Given the description of an element on the screen output the (x, y) to click on. 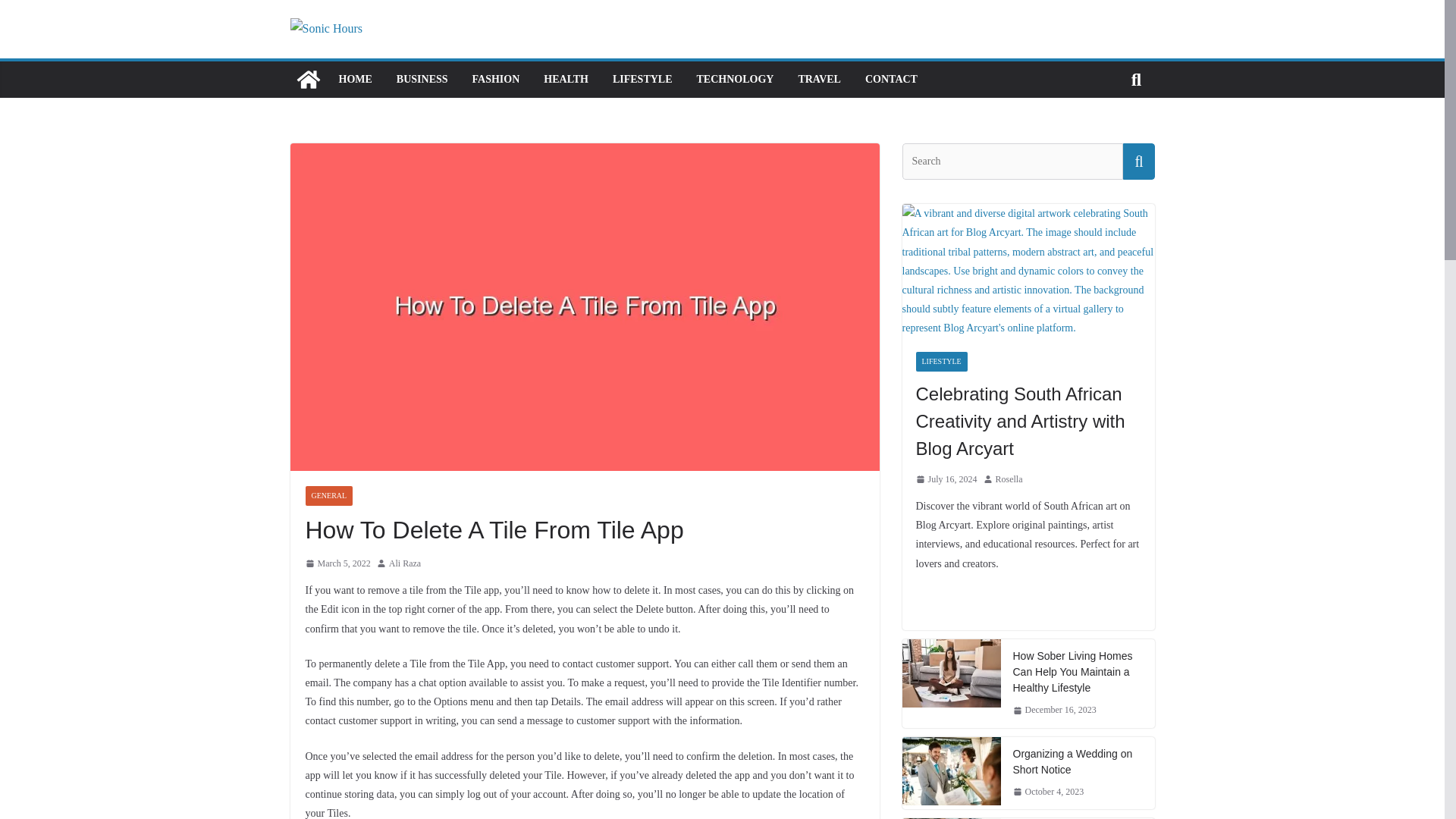
TRAVEL (819, 79)
March 5, 2022 (336, 564)
CONTACT (890, 79)
TECHNOLOGY (735, 79)
BUSINESS (422, 79)
HEALTH (565, 79)
FASHION (495, 79)
Ali Raza (404, 564)
LIFESTYLE (642, 79)
